Given the description of an element on the screen output the (x, y) to click on. 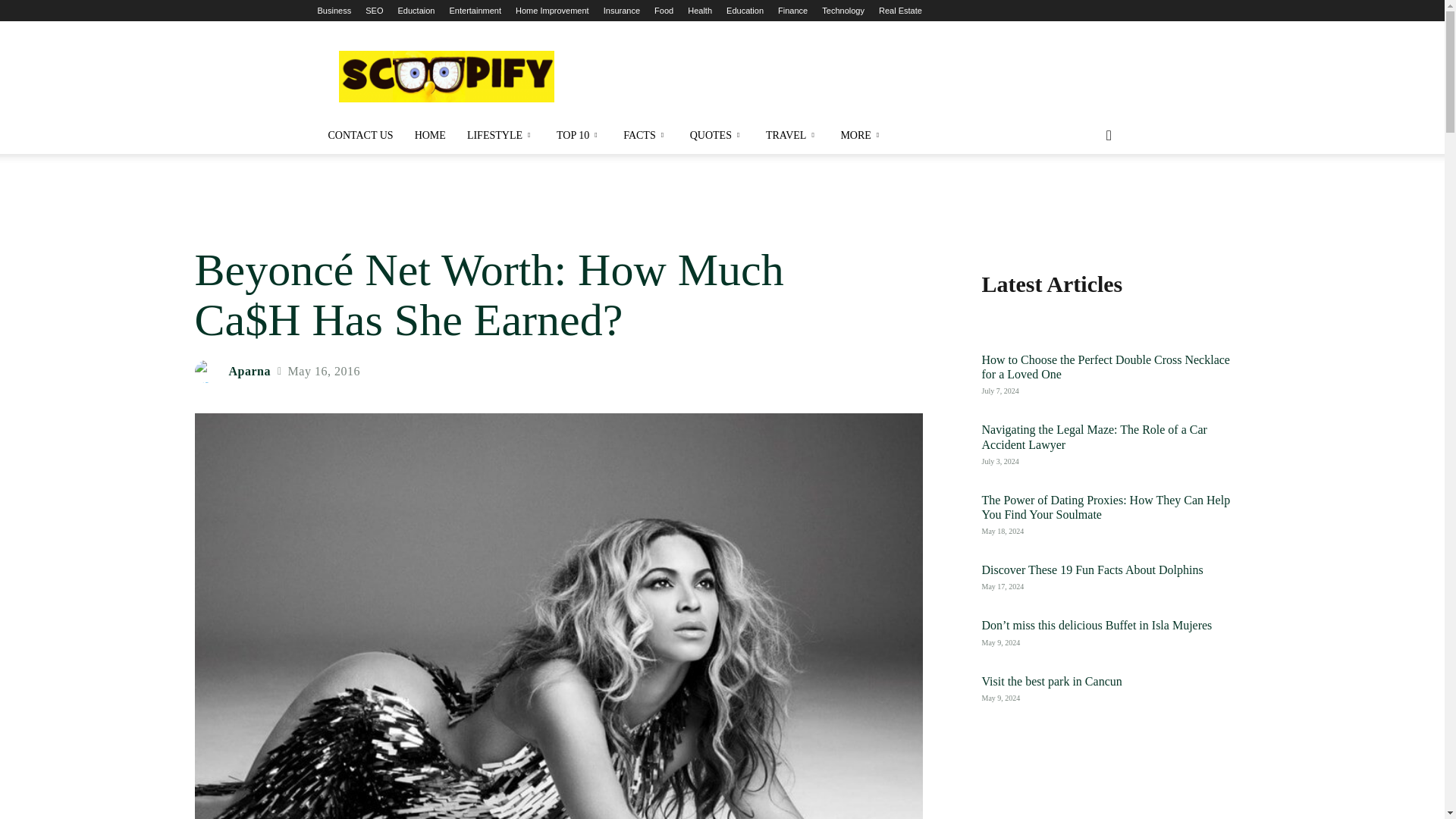
Entertainment (474, 10)
SEO (373, 10)
Business (333, 10)
Food (662, 10)
Insurance (622, 10)
Eductaion (415, 10)
Home Improvement (552, 10)
